Given the description of an element on the screen output the (x, y) to click on. 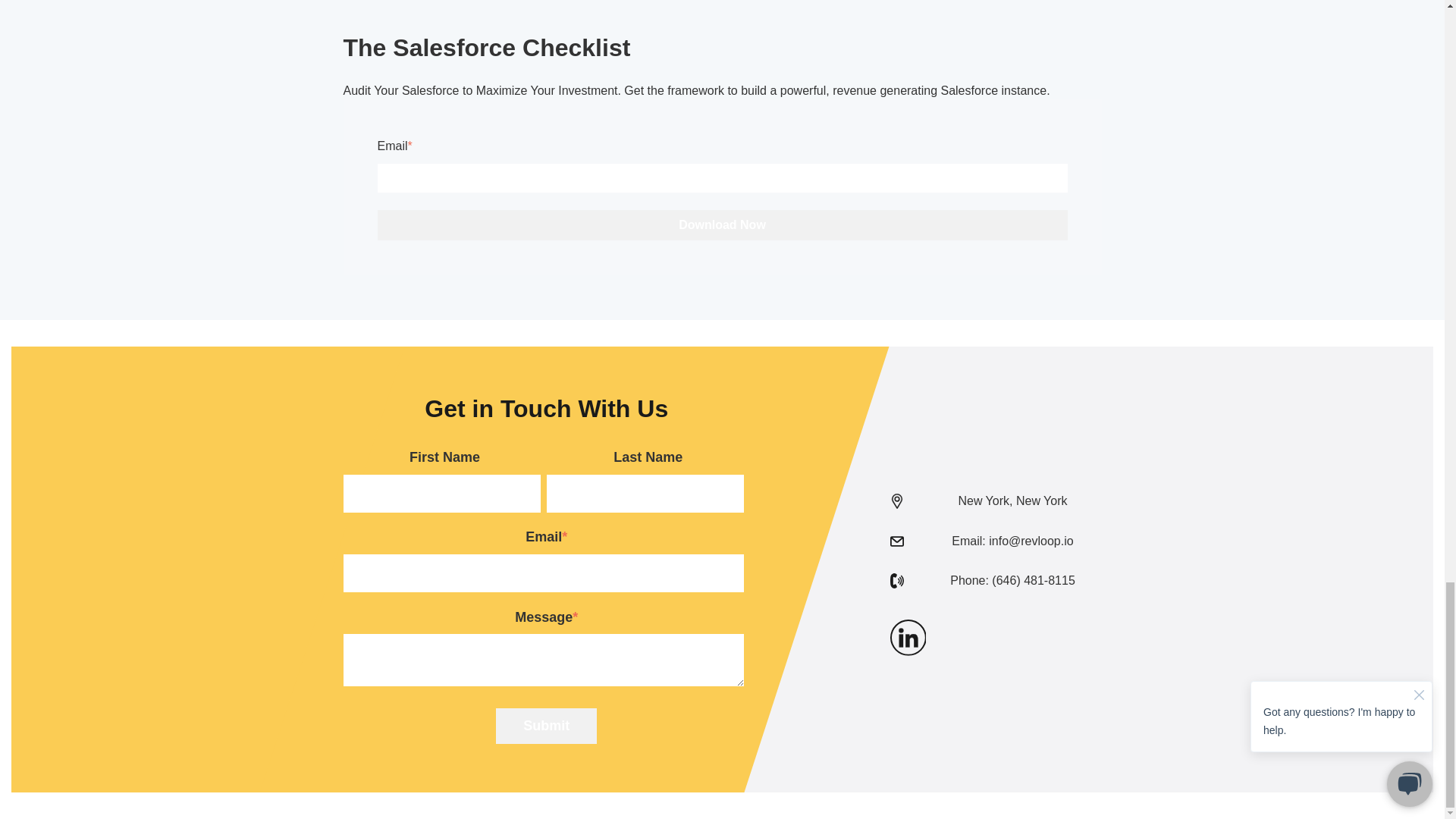
Submit (546, 725)
Submit (546, 725)
Download Now (722, 224)
Download Now (722, 224)
